Given the description of an element on the screen output the (x, y) to click on. 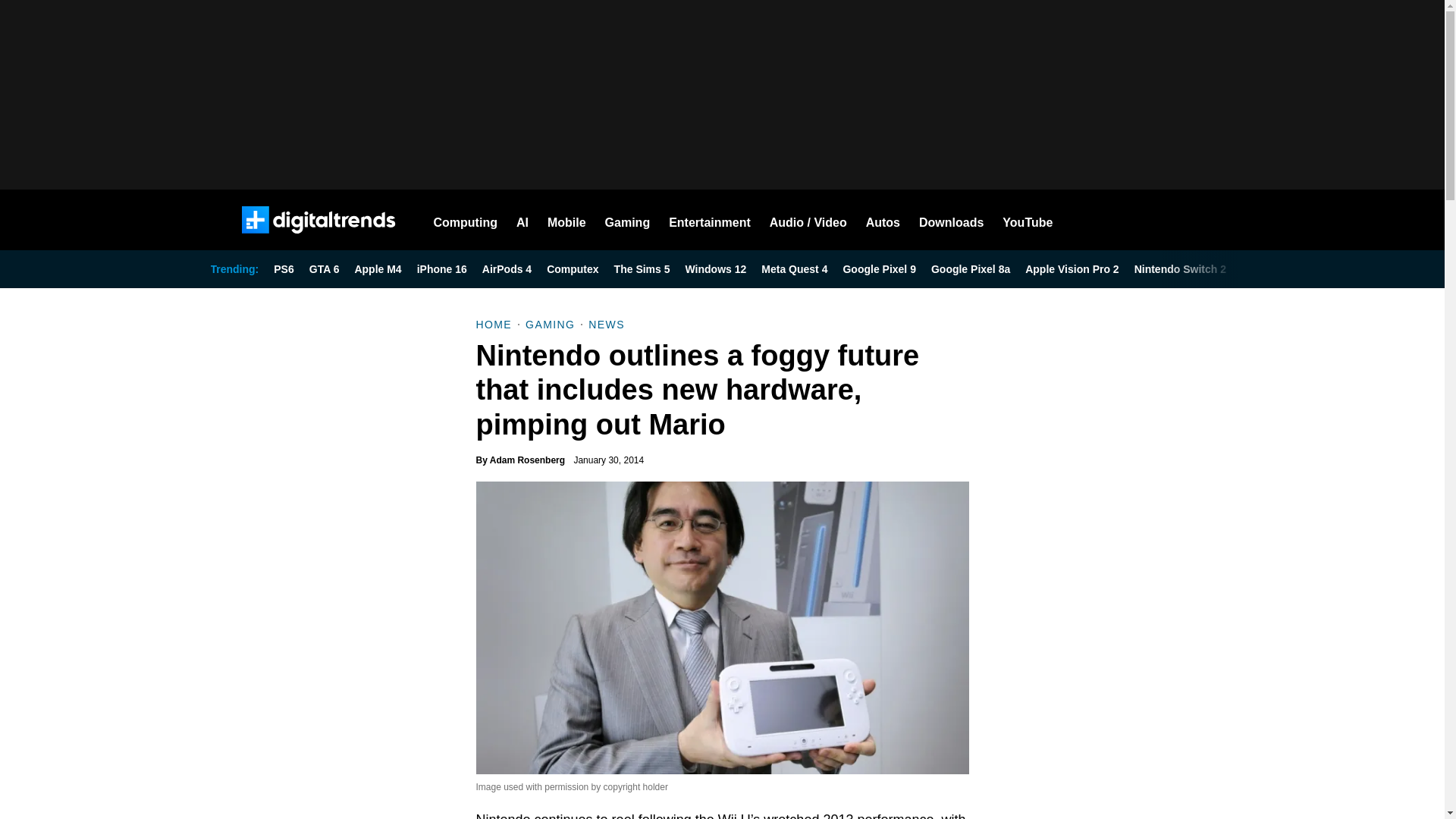
Mobile (566, 219)
Entertainment (709, 219)
Gaming (627, 219)
AI (522, 219)
Downloads (951, 219)
YouTube (1027, 219)
Computing (465, 219)
Autos (882, 219)
